Given the description of an element on the screen output the (x, y) to click on. 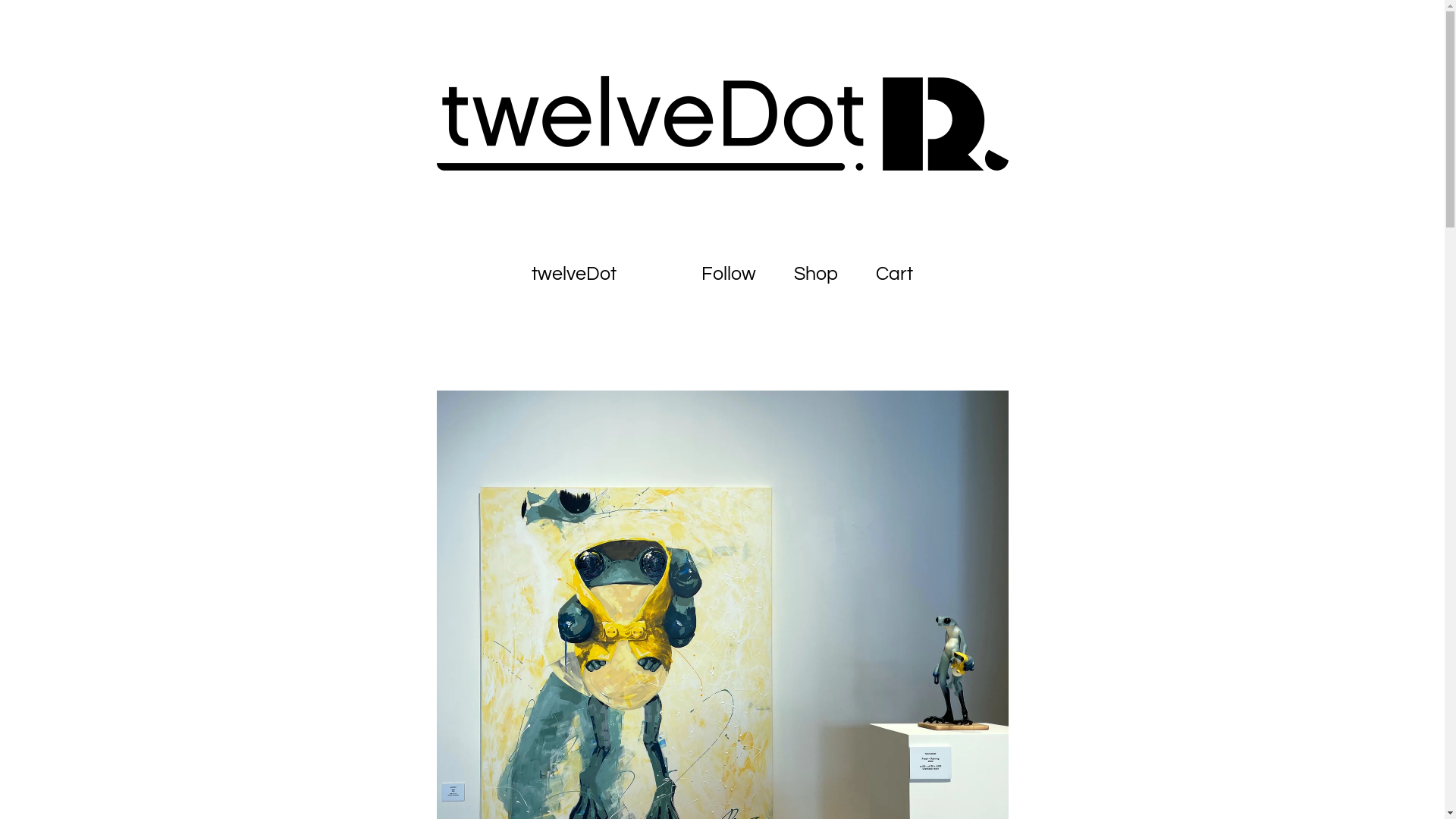
Shop Element type: text (815, 273)
Cart Element type: text (893, 273)
Follow Element type: text (728, 273)
twelveDot Element type: hover (722, 122)
twelveDot Element type: text (573, 273)
